Given the description of an element on the screen output the (x, y) to click on. 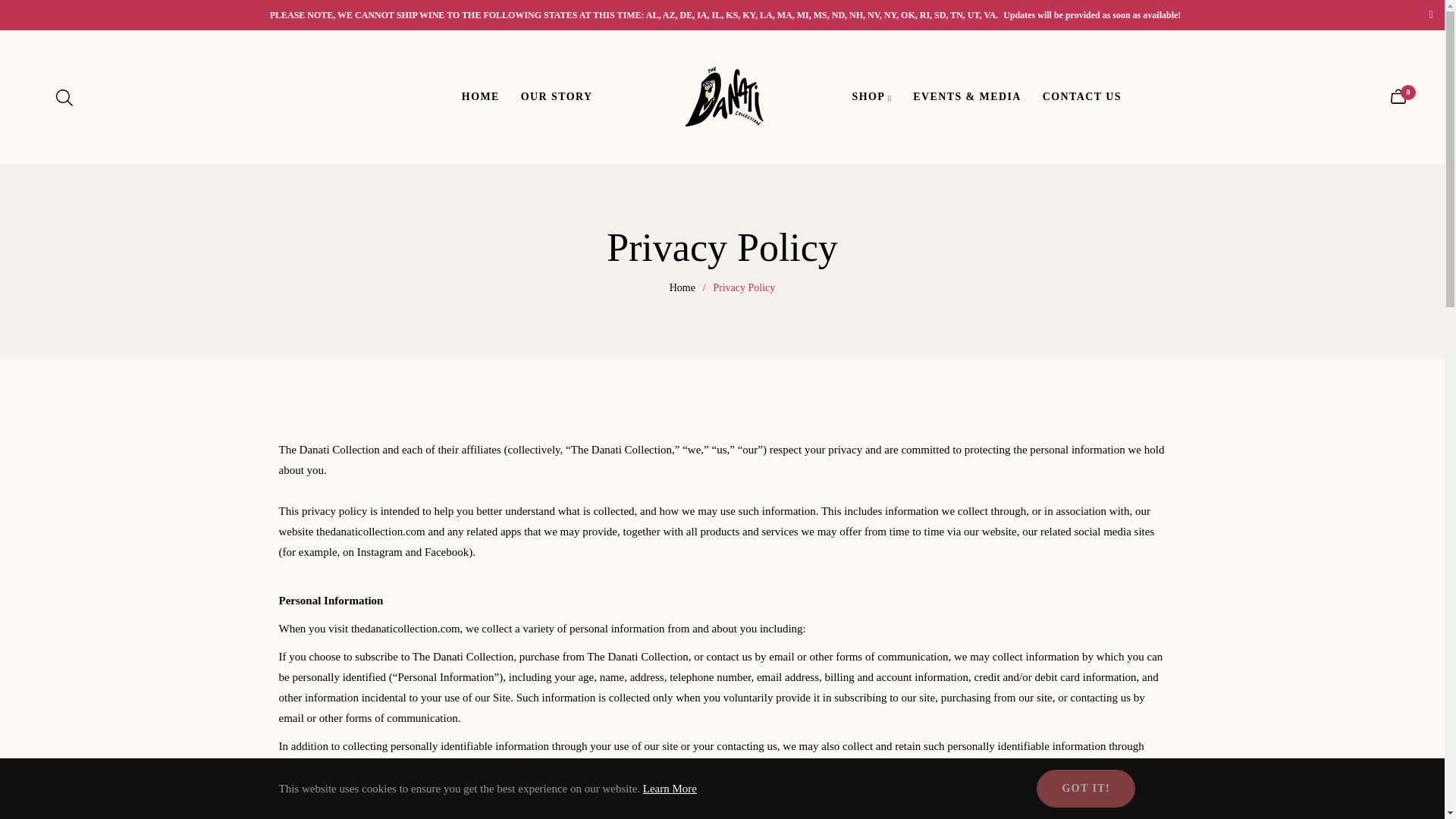
GOT IT! (1085, 788)
Shopping Cart (1398, 96)
OUR STORY (557, 96)
Learn More (670, 788)
CONTACT US (1082, 96)
Home (681, 287)
Home (681, 287)
Updates will be provided as soon as available! (1091, 15)
